Given the description of an element on the screen output the (x, y) to click on. 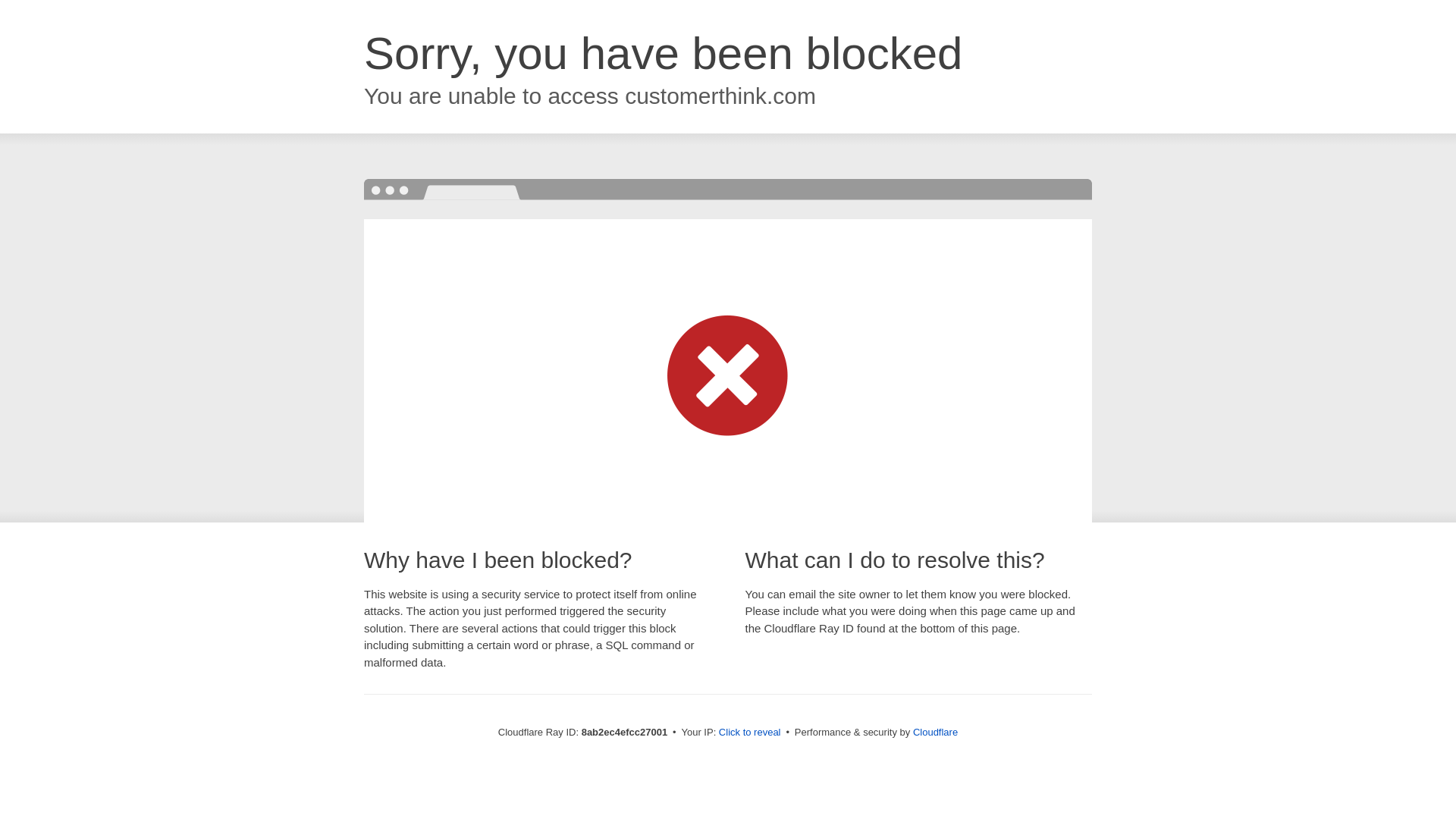
Cloudflare (935, 731)
Click to reveal (749, 732)
